Given the description of an element on the screen output the (x, y) to click on. 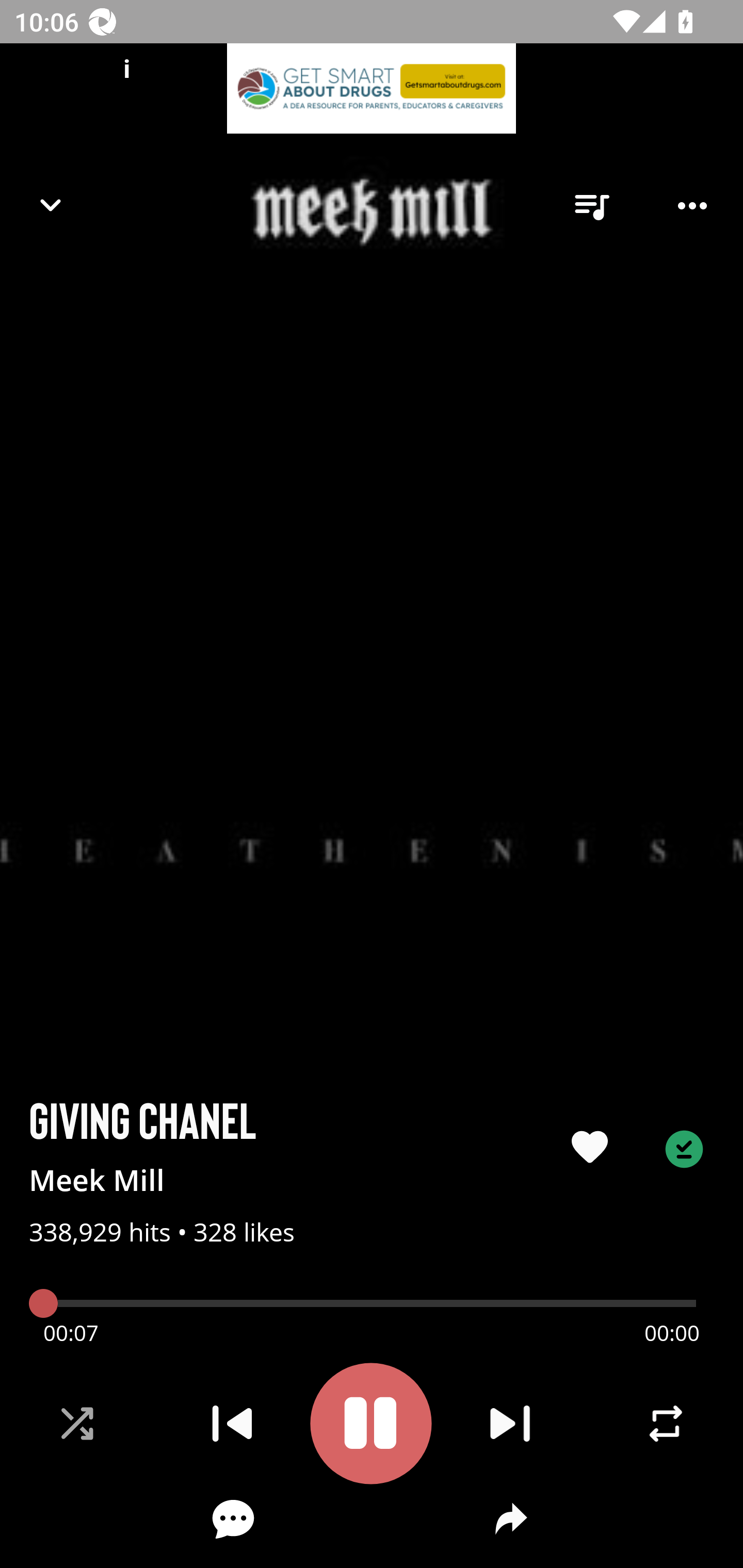
Navigate up (50, 205)
queue (590, 206)
Player options (692, 206)
